Given the description of an element on the screen output the (x, y) to click on. 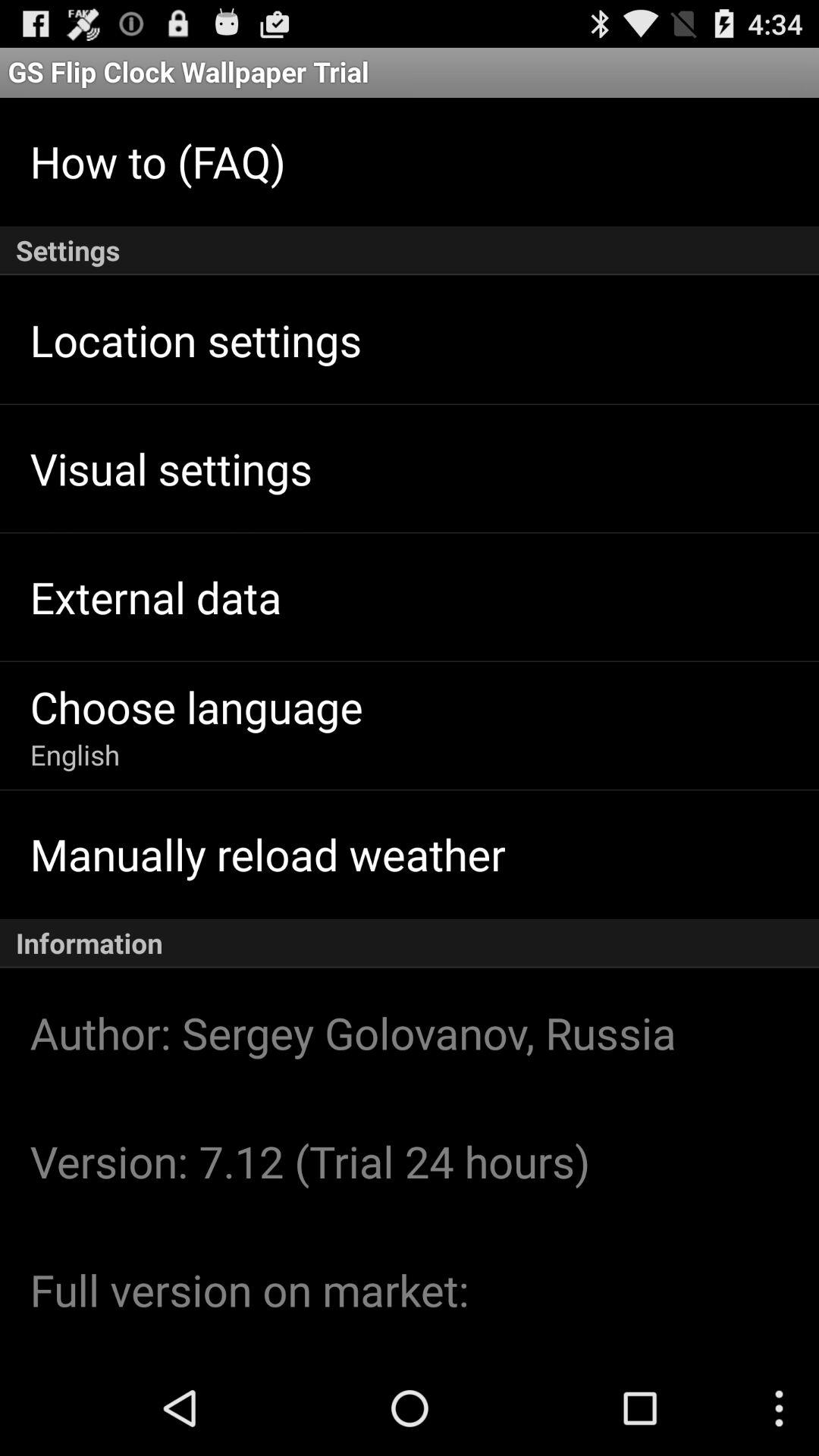
choose the manually reload weather icon (267, 853)
